Given the description of an element on the screen output the (x, y) to click on. 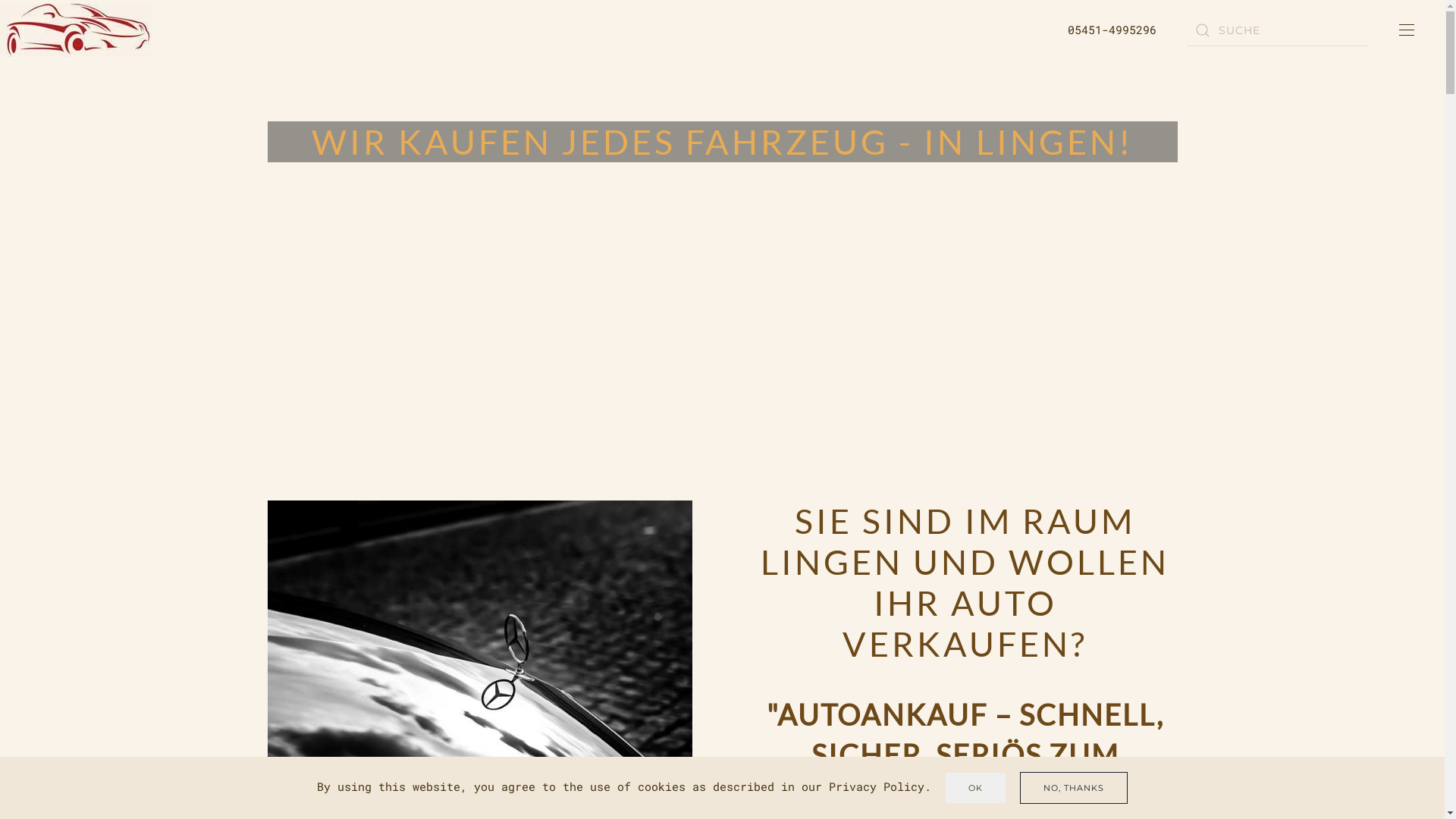
OK Element type: text (975, 787)
Autoankauf Lingen Element type: hover (478, 640)
NO, THANKS Element type: text (1073, 787)
